Given the description of an element on the screen output the (x, y) to click on. 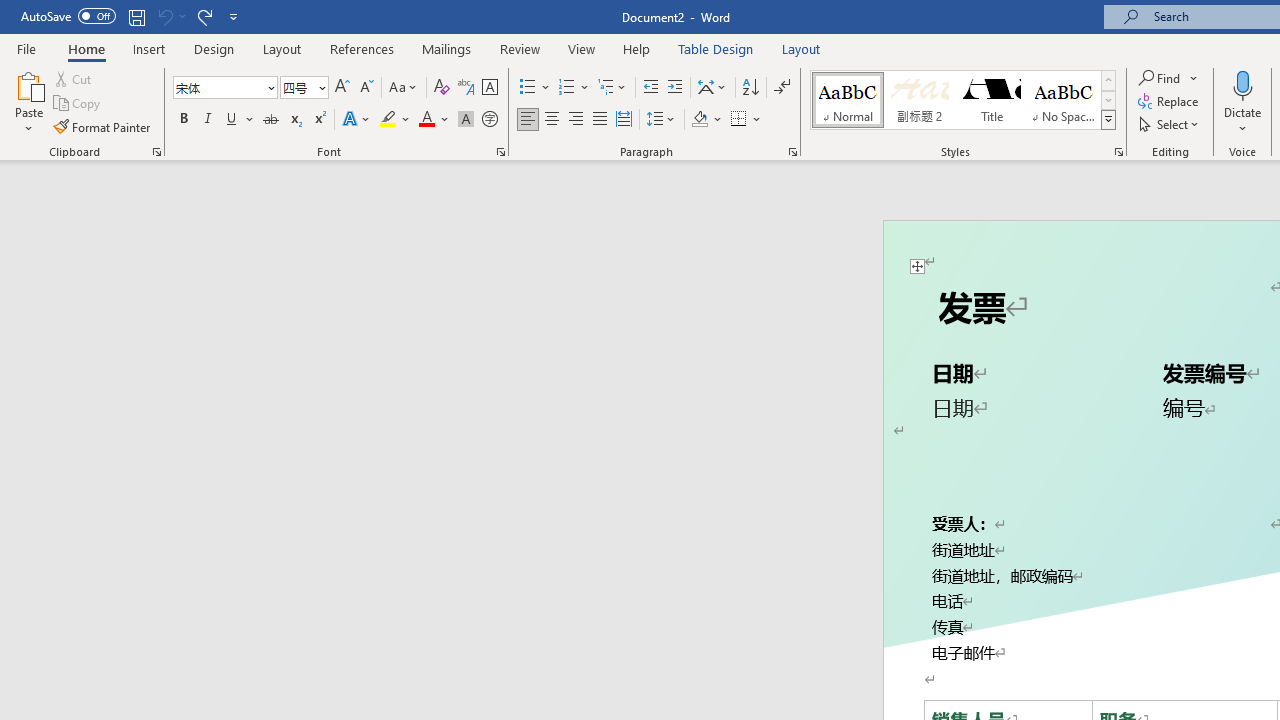
Can't Undo (164, 15)
